Given the description of an element on the screen output the (x, y) to click on. 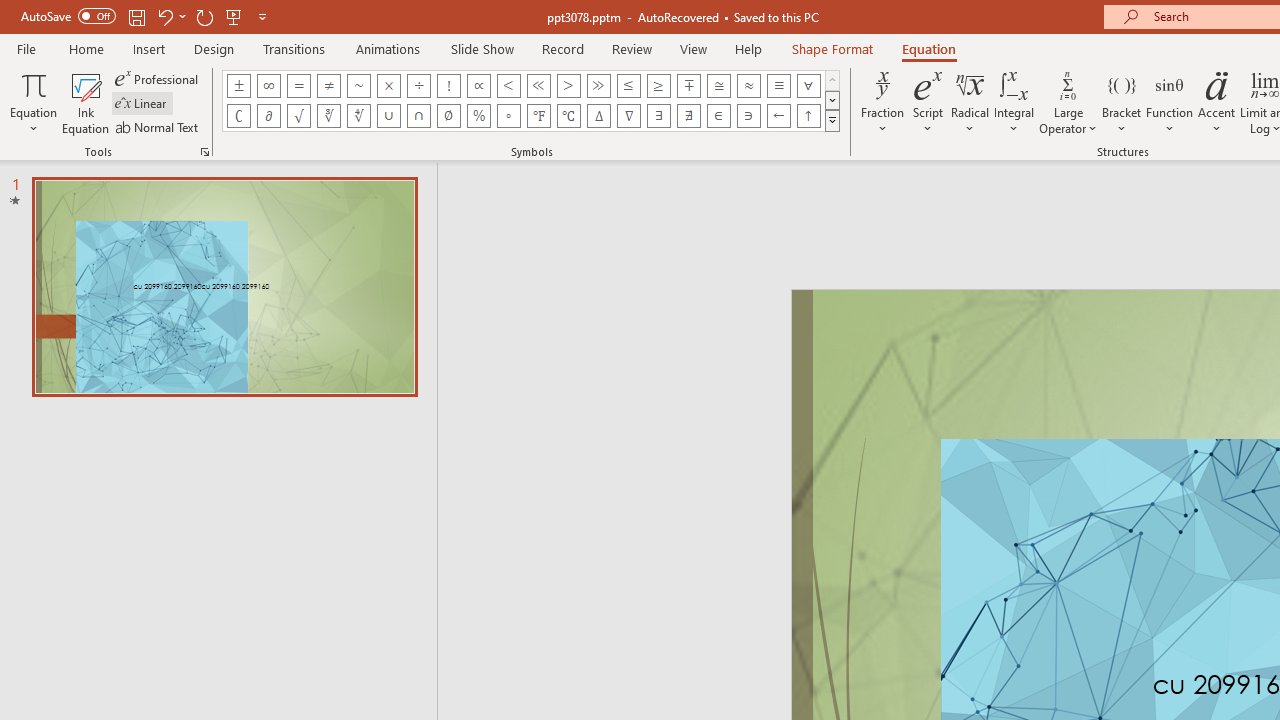
Equation Symbol Union (388, 115)
Equation Symbol Degrees Celsius (568, 115)
Equation Symbols (832, 120)
Large Operator (1067, 102)
Equation Options... (204, 151)
Equation Symbol Infinity (268, 85)
Equation Symbol Greater Than (568, 85)
Equation Symbol Increment (598, 115)
Equation Symbol Minus Plus (689, 85)
Equation Symbol Degrees (508, 115)
Equation Symbol There Does Not Exist (689, 115)
